Given the description of an element on the screen output the (x, y) to click on. 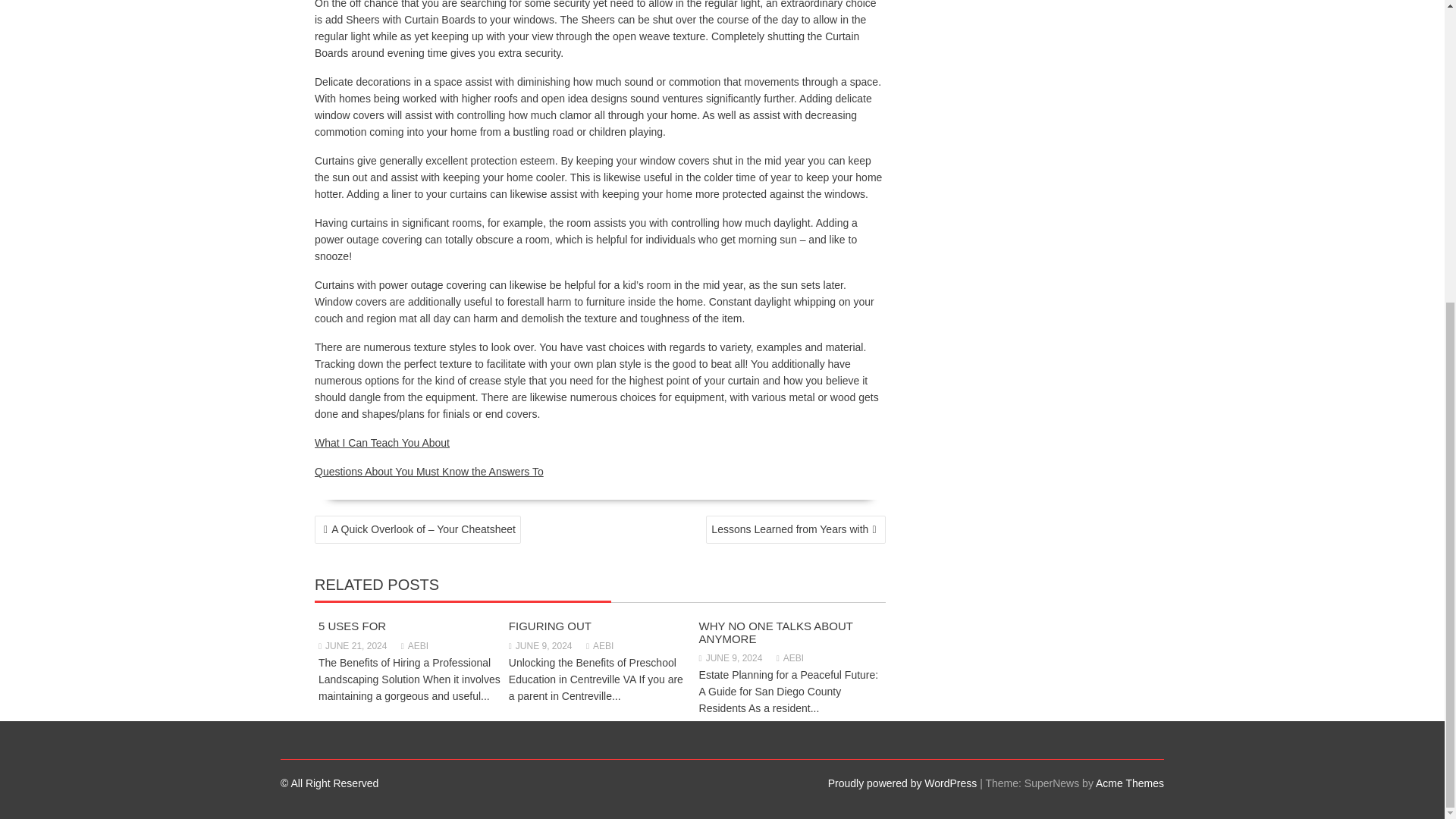
AEBI (599, 645)
WHY NO ONE TALKS ABOUT ANYMORE (775, 632)
AEBI (414, 645)
FIGURING OUT (549, 625)
JUNE 9, 2024 (730, 657)
Questions About You Must Know the Answers To (428, 471)
Acme Themes (1129, 783)
Lessons Learned from Years with (795, 529)
AEBI (789, 657)
JUNE 9, 2024 (540, 645)
JUNE 21, 2024 (352, 645)
5 USES FOR (351, 625)
Proudly powered by WordPress (902, 783)
What I Can Teach You About (381, 442)
